Given the description of an element on the screen output the (x, y) to click on. 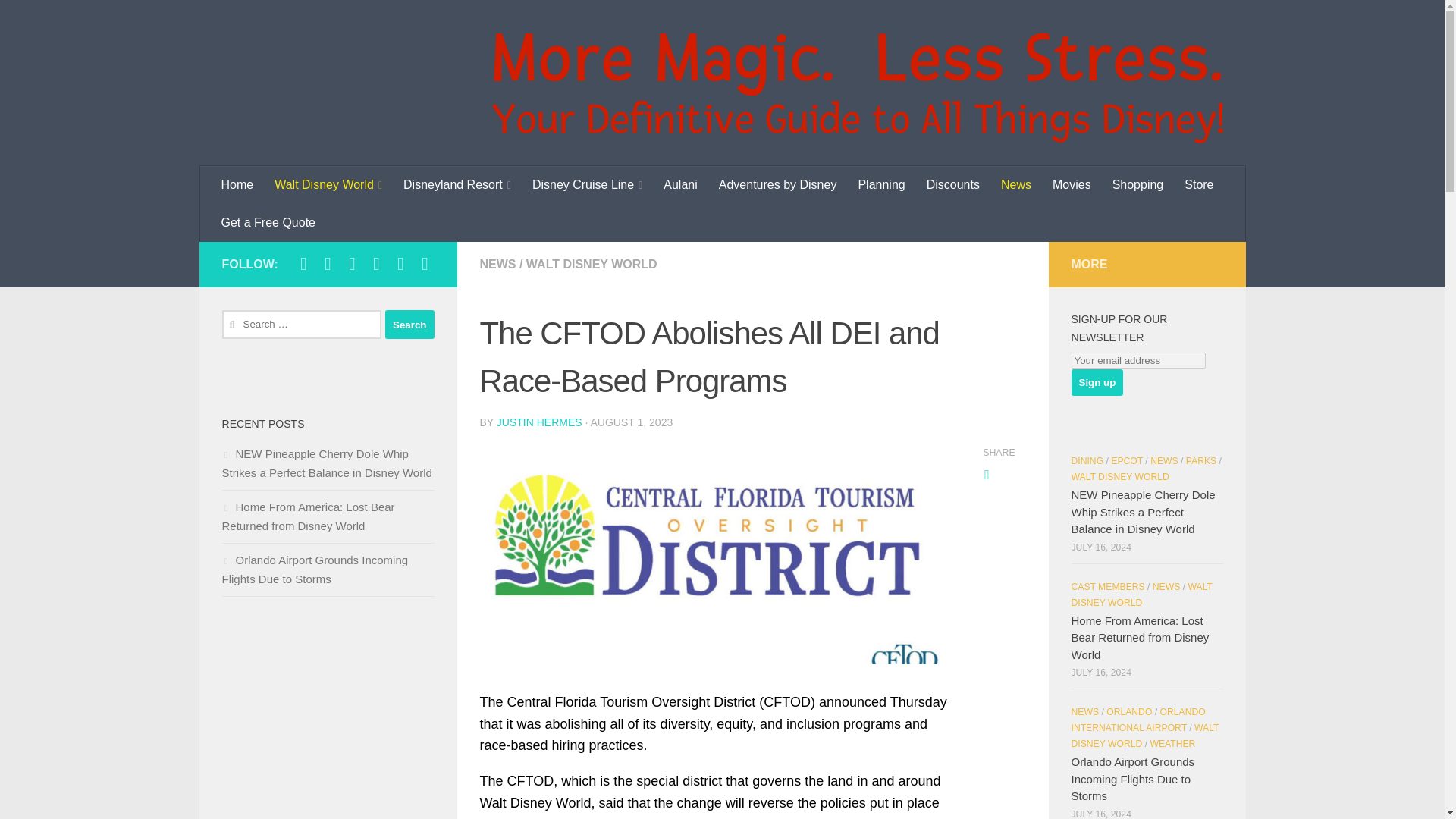
Skip to content (63, 20)
Follow us on Facebook (303, 263)
Follow us on Pinterest (423, 263)
Home (237, 184)
Follow us on Twitter (351, 263)
Walt Disney World (328, 184)
Follow us on Youtube (400, 263)
The CFTOD Abolishes All DEI and Race-Based Programs (714, 553)
Sign up (1096, 382)
Posts by Justin Hermes (539, 422)
Search (409, 324)
Search (409, 324)
Follow us on Tiktok (375, 263)
Follow us on Instagram (327, 263)
